Given the description of an element on the screen output the (x, y) to click on. 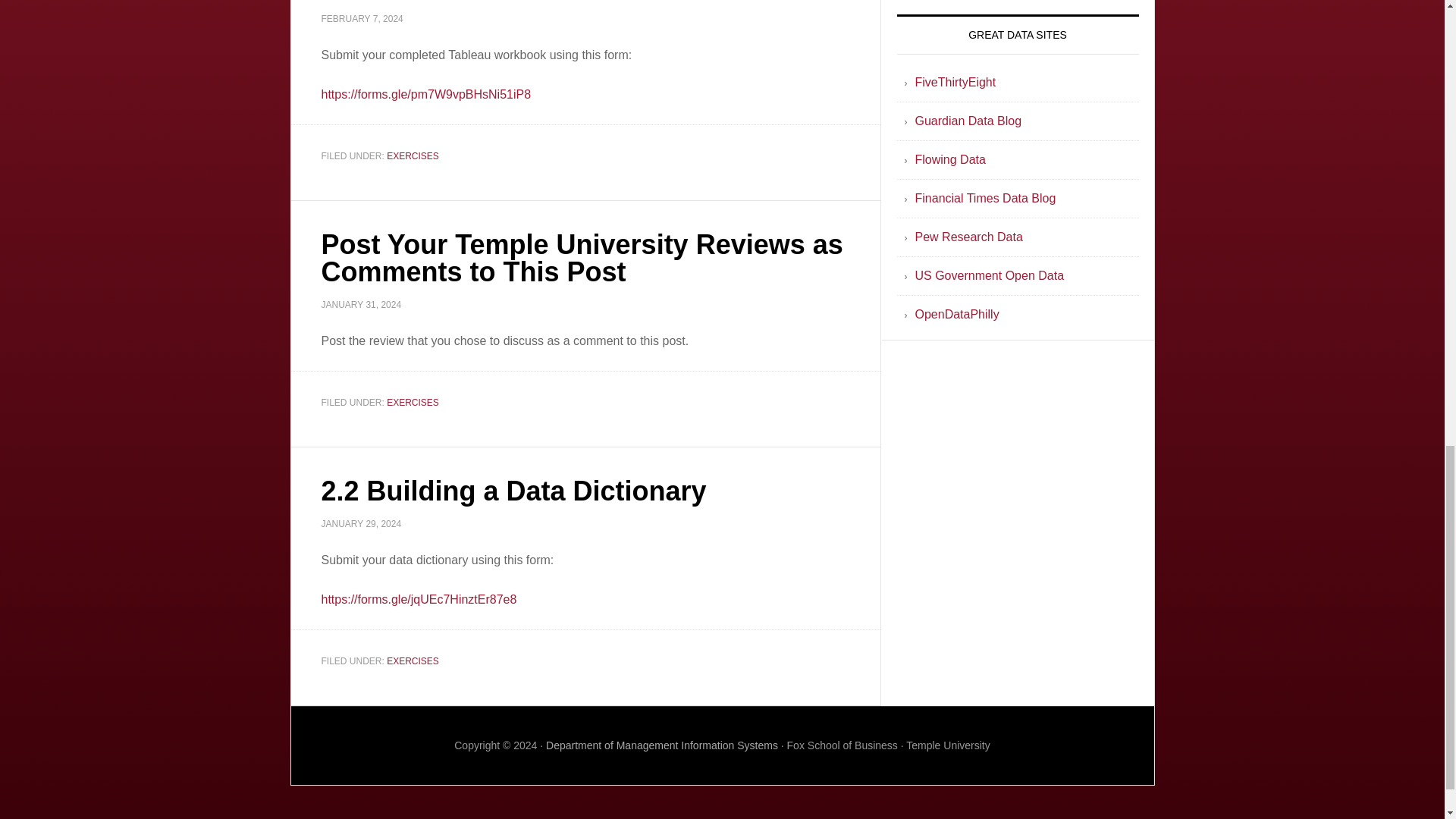
2.2 Building a Data Dictionary (513, 490)
EXERCISES (413, 155)
FiveThirtyEight (954, 82)
EXERCISES (413, 401)
Pew Research Data (968, 236)
Flowing Data (949, 159)
US Government Open Data (989, 275)
Post Your Temple University Reviews as Comments to This Post (582, 258)
Financial Times Data Blog (984, 197)
Guardian Data Blog (968, 120)
EXERCISES (413, 661)
